Given the description of an element on the screen output the (x, y) to click on. 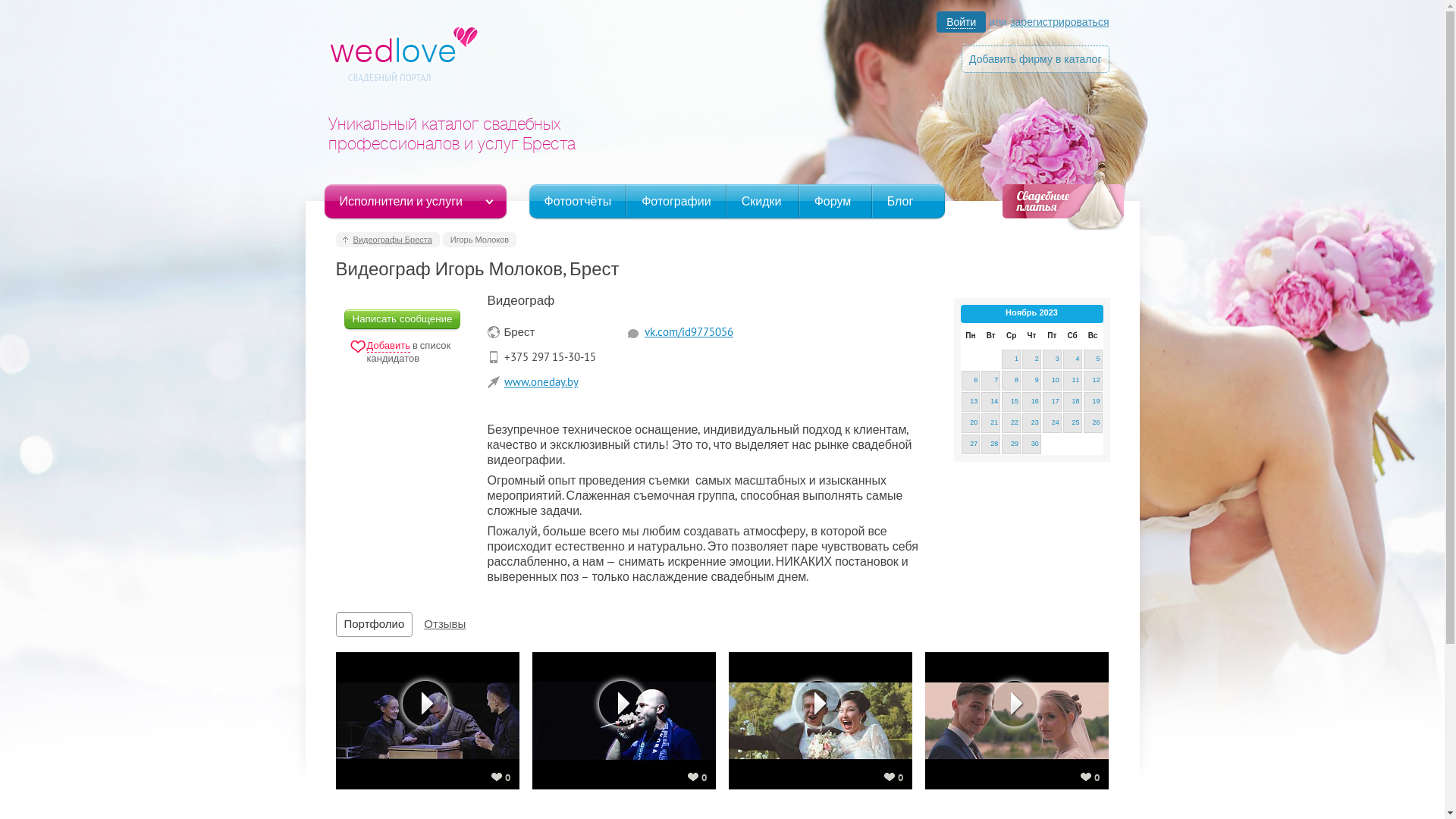
7 Element type: text (990, 380)
25 Element type: text (1072, 423)
26 Element type: text (1092, 423)
23 Element type: text (1031, 423)
3 Element type: text (1051, 359)
vk.com/id9775056 Element type: text (688, 331)
www.oneday.by Element type: text (540, 381)
14 Element type: text (990, 401)
27 Element type: text (970, 444)
24 Element type: text (1051, 423)
12 Element type: text (1092, 380)
9 Element type: text (1031, 380)
11 Element type: text (1072, 380)
28 Element type: text (990, 444)
2 Element type: text (1031, 359)
22 Element type: text (1010, 423)
29 Element type: text (1010, 444)
10 Element type: text (1051, 380)
21 Element type: text (990, 423)
20 Element type: text (970, 423)
Prev Element type: text (968, 313)
4 Element type: text (1072, 359)
6 Element type: text (970, 380)
1 Element type: text (1010, 359)
13 Element type: text (970, 401)
19 Element type: text (1092, 401)
5 Element type: text (1092, 359)
30 Element type: text (1031, 444)
Next Element type: text (1093, 313)
15 Element type: text (1010, 401)
16 Element type: text (1031, 401)
8 Element type: text (1010, 380)
17 Element type: text (1051, 401)
18 Element type: text (1072, 401)
